Given the description of an element on the screen output the (x, y) to click on. 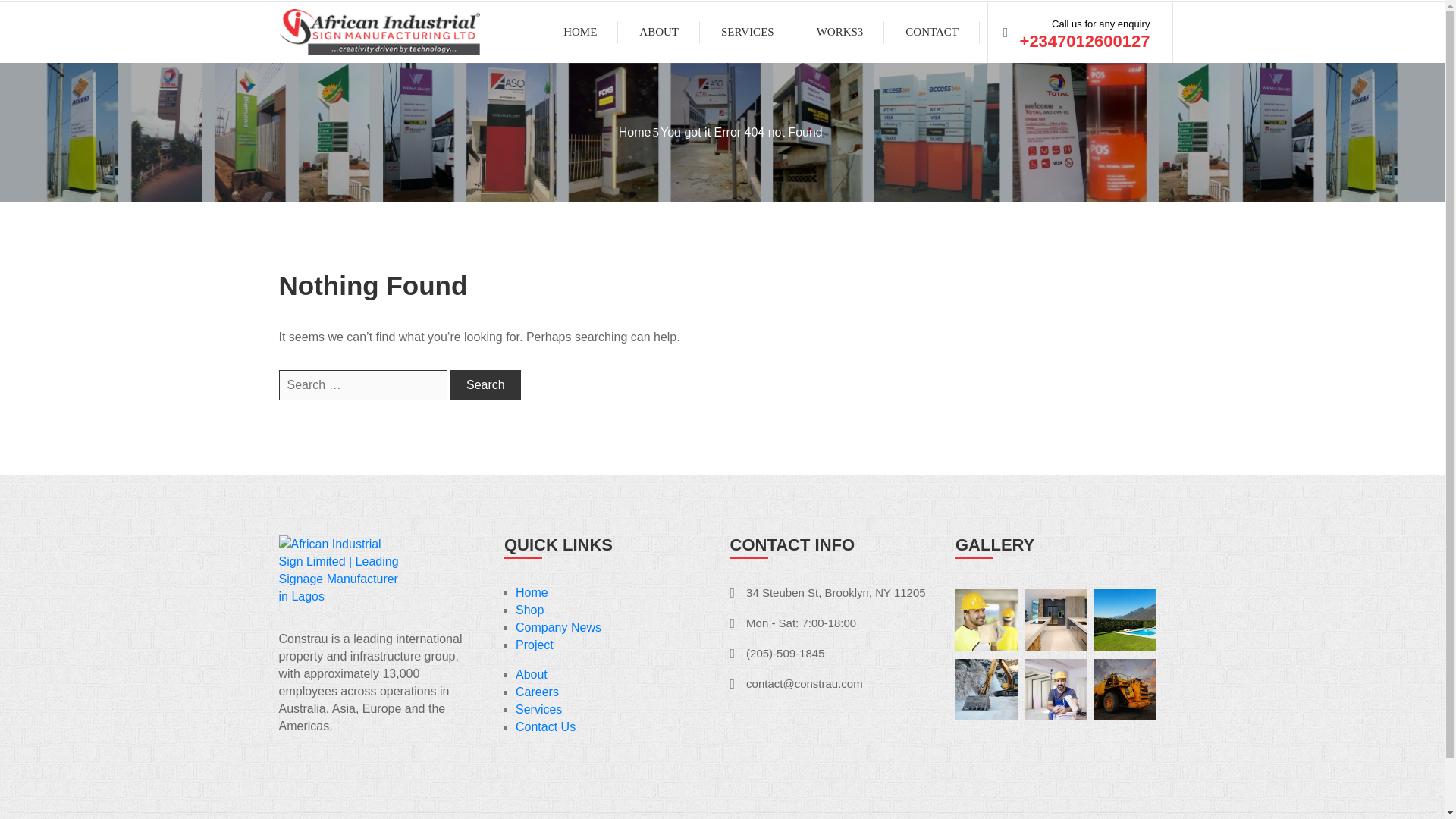
Search (485, 385)
WORKS (839, 32)
HOME (580, 32)
Services (538, 708)
SERVICES (747, 32)
Shop (529, 609)
Home (634, 132)
CONTACT (931, 32)
ABOUT (658, 32)
Contact Us (545, 726)
